Given the description of an element on the screen output the (x, y) to click on. 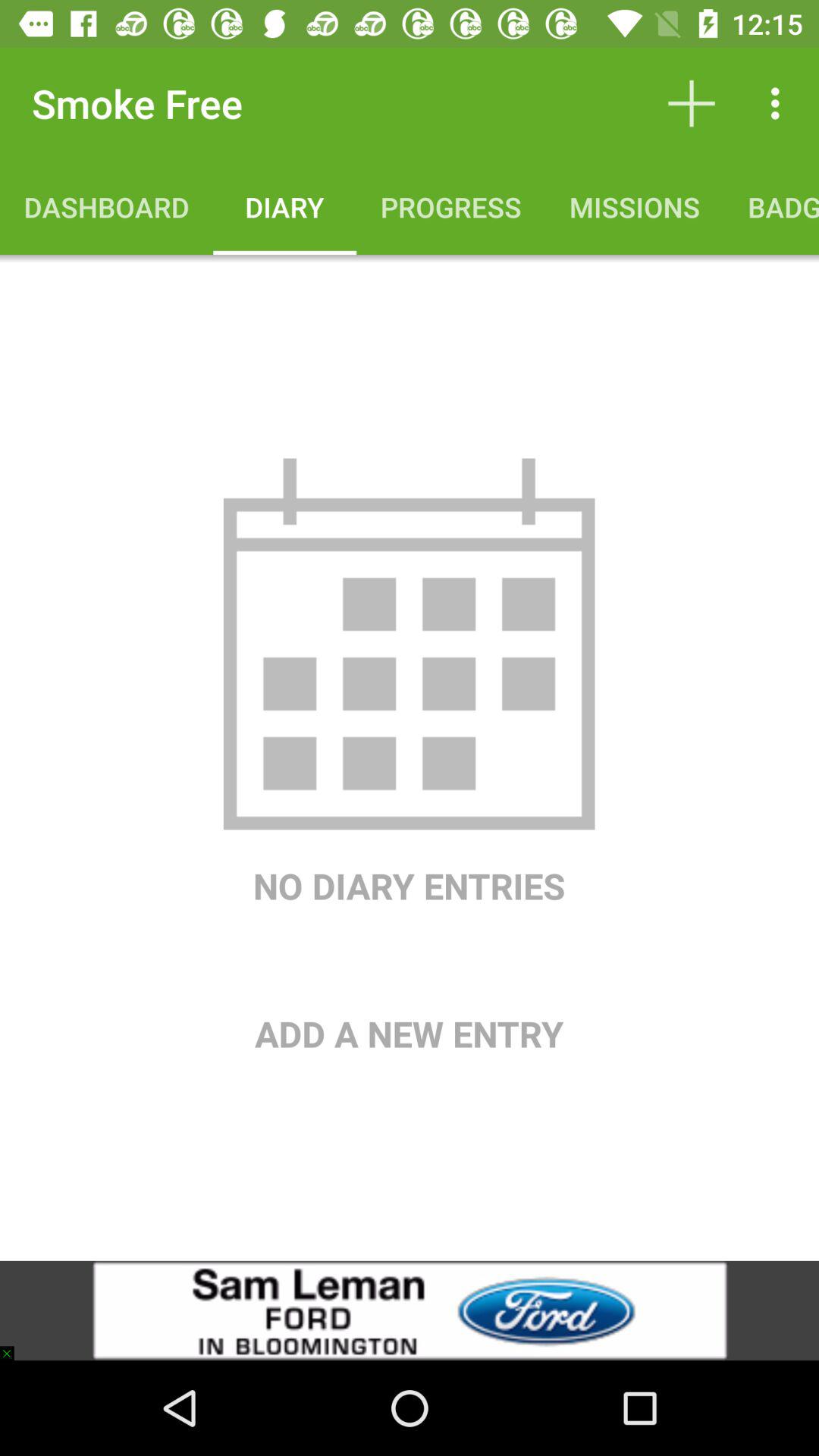
press item above no diary entries (408, 643)
